Given the description of an element on the screen output the (x, y) to click on. 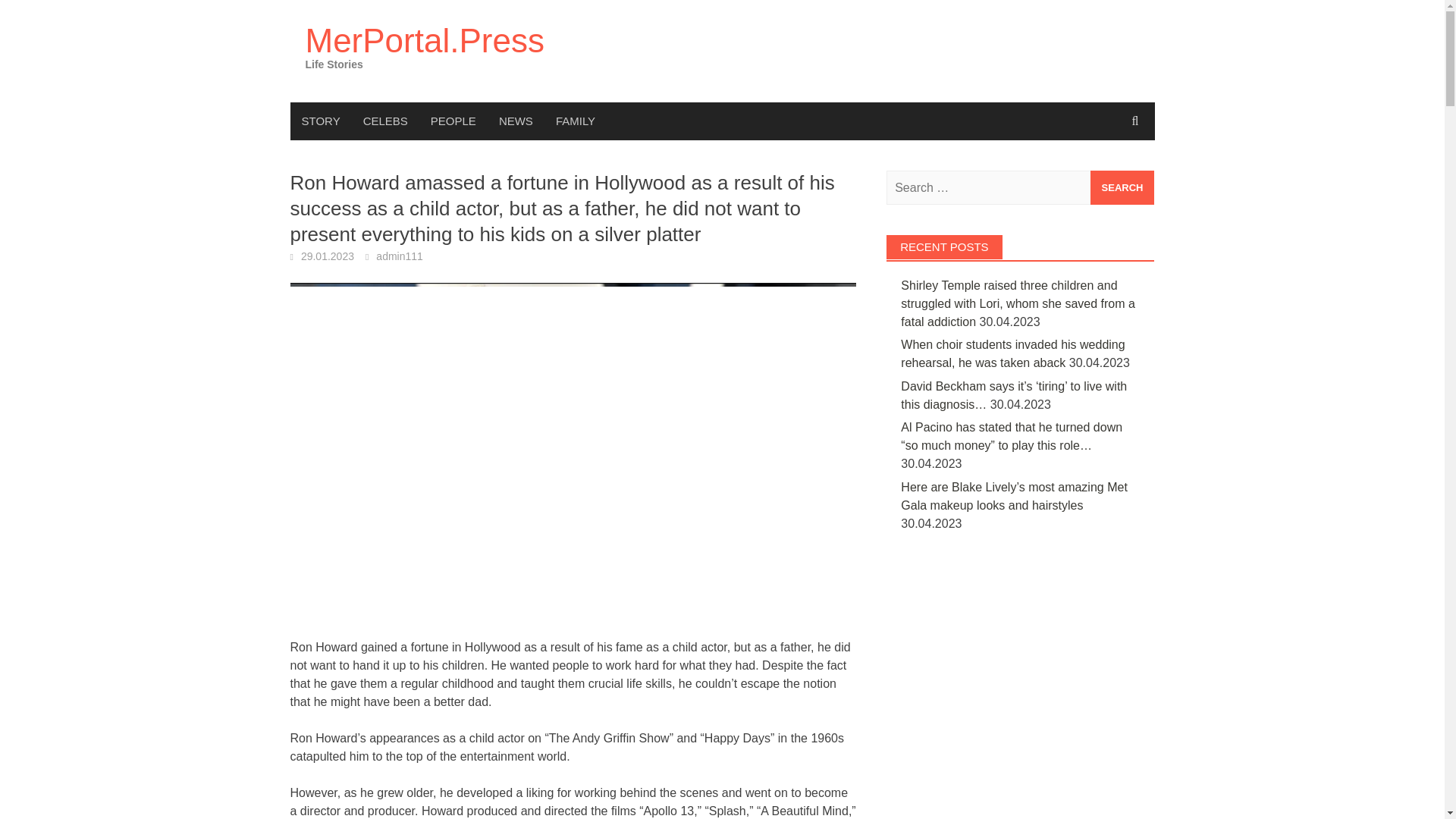
Search (1122, 187)
FAMILY (575, 121)
Search (1122, 187)
CELEBS (385, 121)
STORY (319, 121)
MerPortal.Press (423, 40)
Search (1122, 187)
PEOPLE (453, 121)
admin111 (399, 256)
NEWS (515, 121)
29.01.2023 (327, 256)
